Given the description of an element on the screen output the (x, y) to click on. 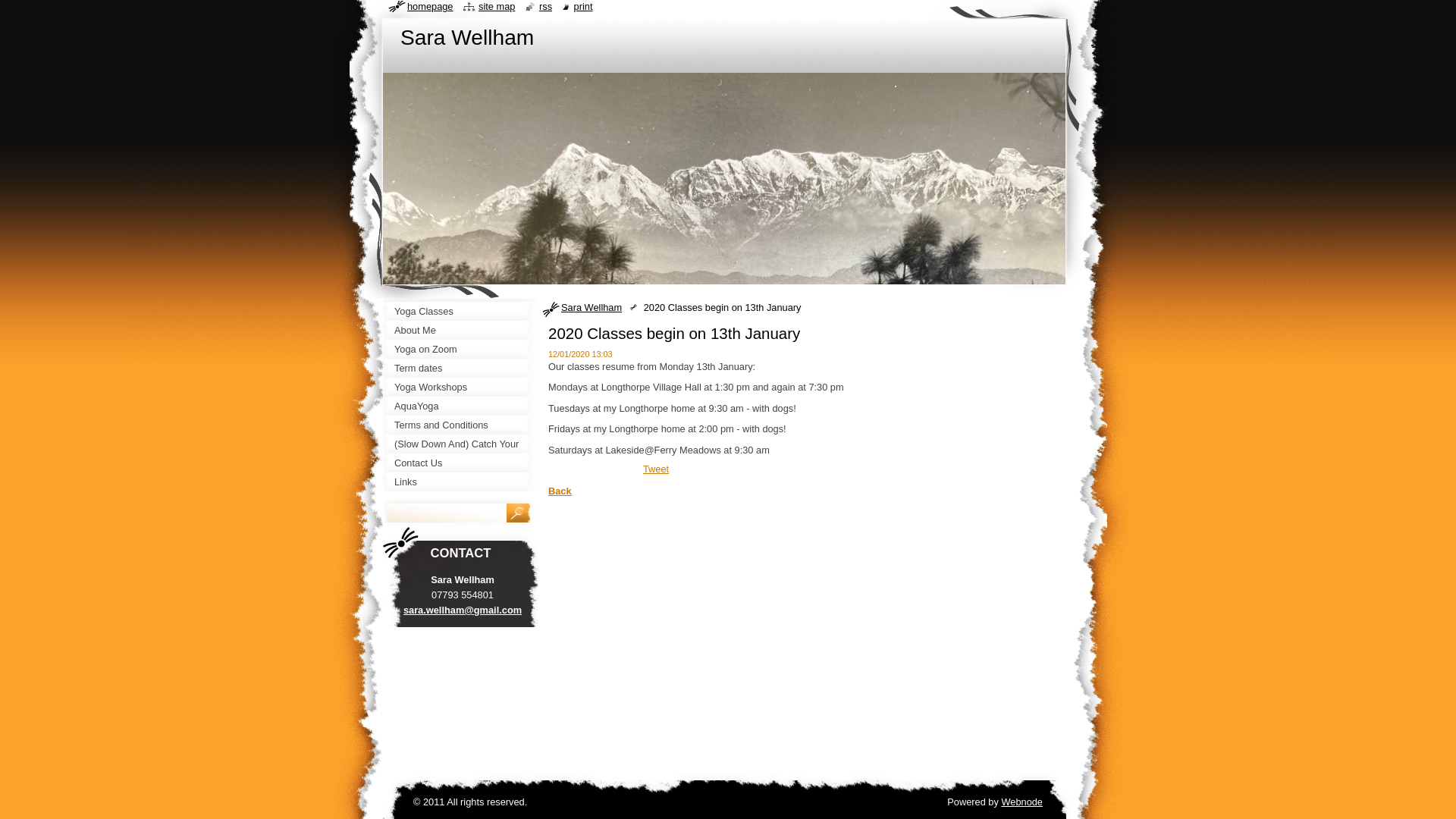
Term dates (460, 367)
Print page (577, 6)
homepage (420, 6)
Terms and Conditions (460, 424)
AquaYoga (460, 405)
rss (538, 6)
Go to Homepage. (420, 6)
Go to Homepage. (467, 37)
Yoga Classes (460, 311)
Tweet (655, 469)
Links (460, 481)
Contact Us (460, 462)
site map (489, 6)
RSS Feeds (538, 6)
Sara Wellham (467, 37)
